Given the description of an element on the screen output the (x, y) to click on. 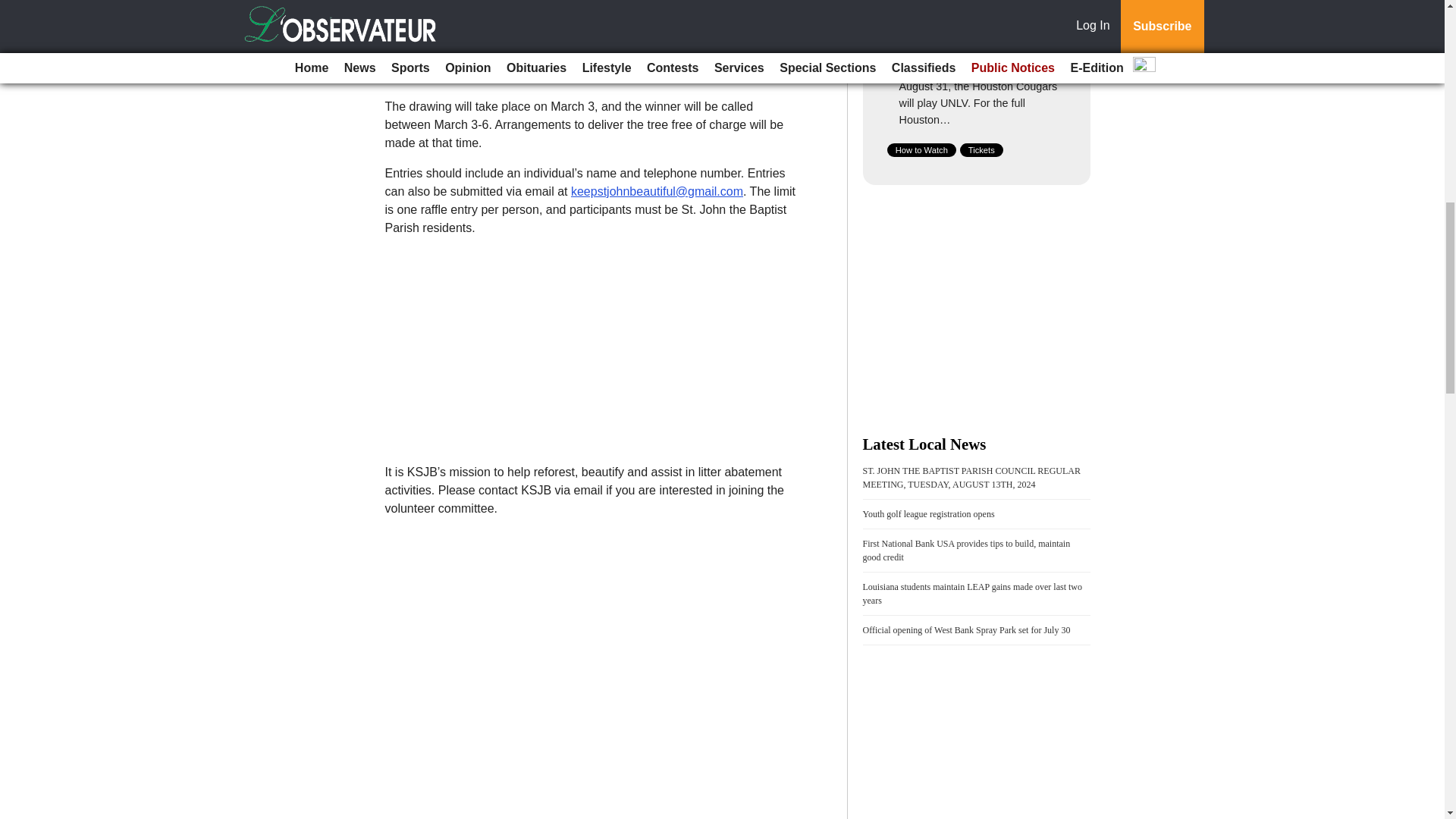
Houston 2024 Football Schedule, Record, Results (966, 42)
Youth golf league registration opens (928, 513)
How to Watch (921, 150)
Tickets (981, 150)
